Given the description of an element on the screen output the (x, y) to click on. 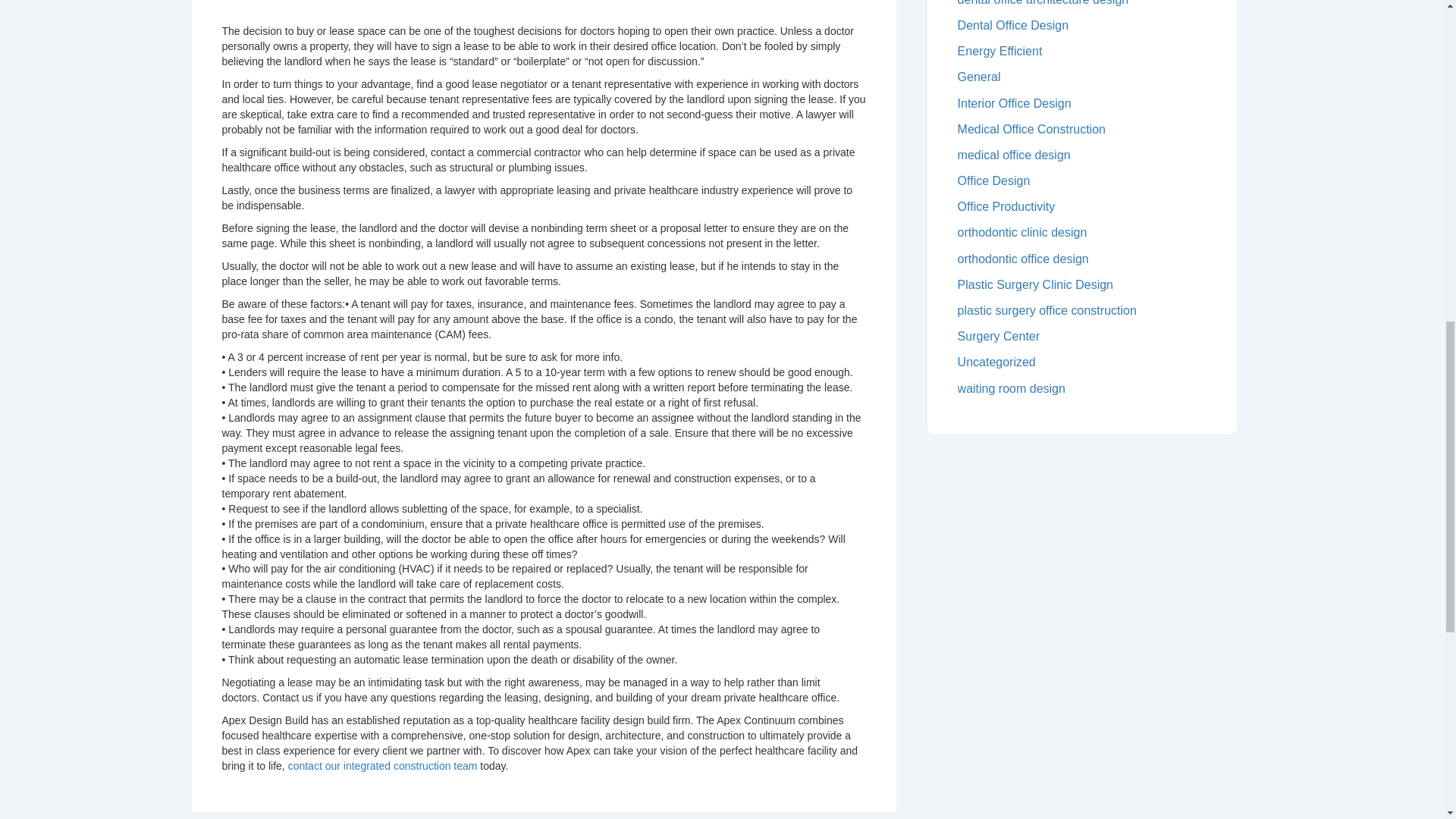
medical office design (1082, 155)
contact our integrated construction team (382, 766)
Energy Efficient (1082, 51)
General (1082, 77)
Energy Efficient (1082, 51)
Dental Office Design (1082, 25)
Plastic Surgery Clinic Design (1082, 284)
orthodontic office design (1082, 259)
dental office architecture design (1082, 5)
orthodontic clinic design (1082, 232)
Interior Office Design (1082, 103)
Medical Office Construction (1082, 129)
General (1082, 76)
Office Productivity (1082, 206)
dental office architecture design (1082, 3)
